Given the description of an element on the screen output the (x, y) to click on. 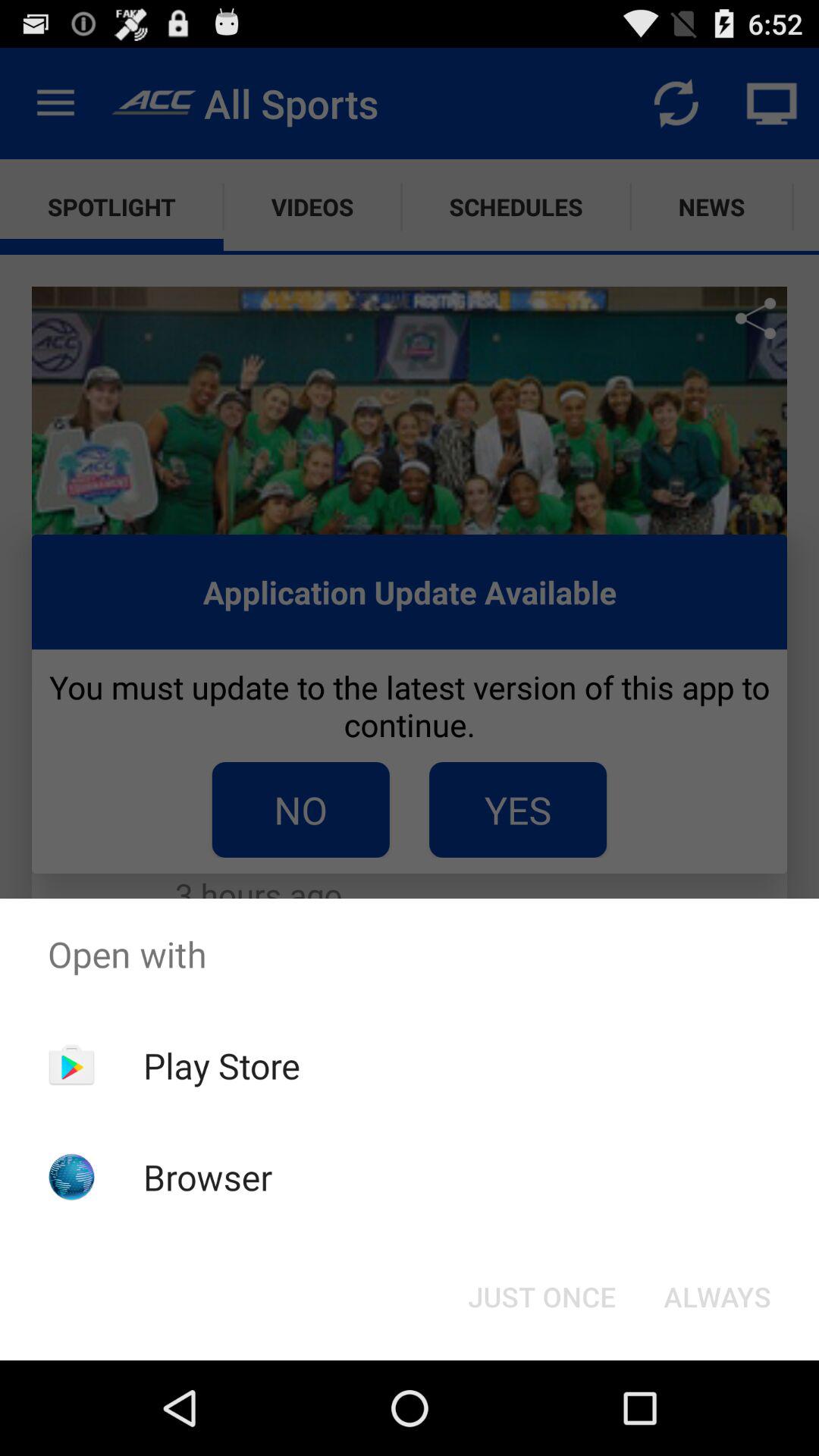
scroll to play store (221, 1065)
